Given the description of an element on the screen output the (x, y) to click on. 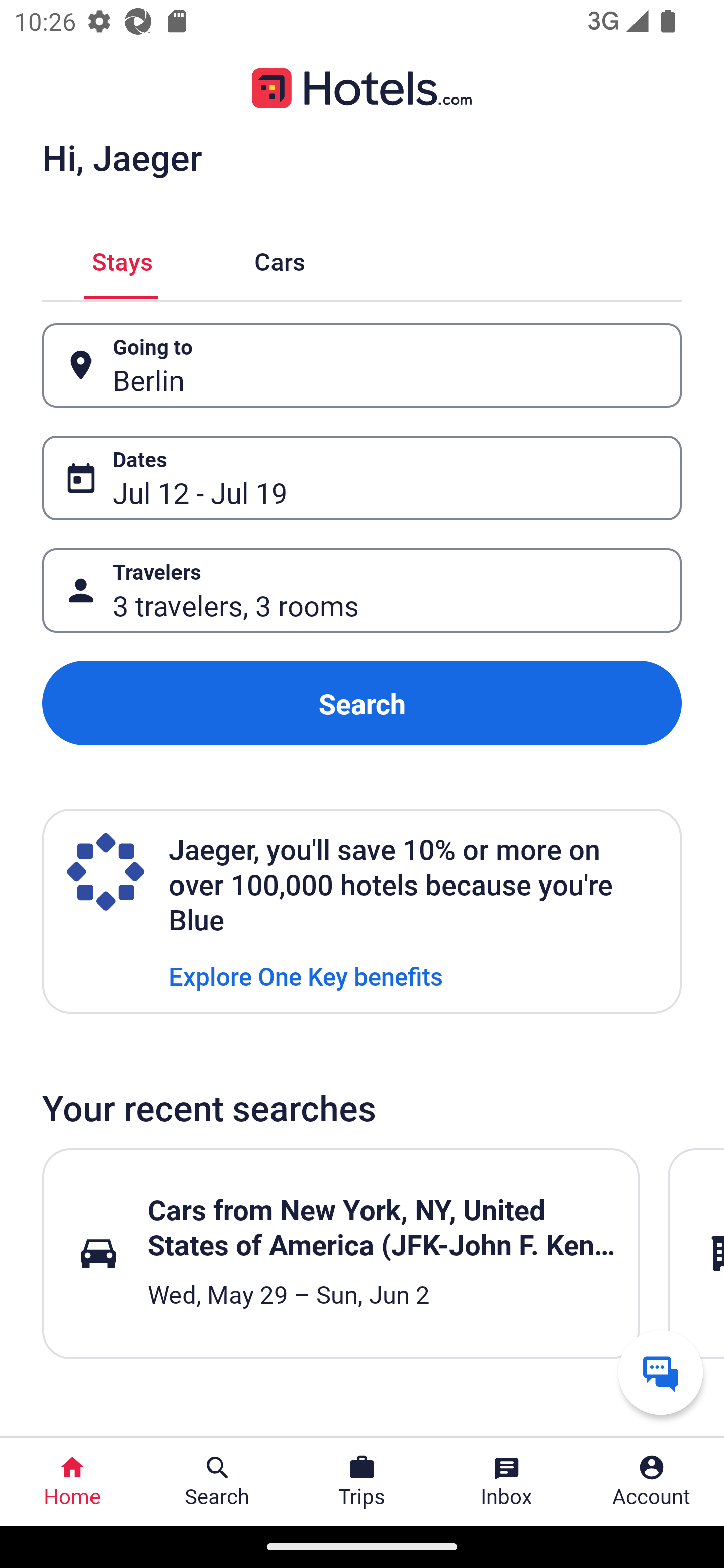
Hi, Jaeger (121, 156)
Cars (279, 259)
Going to Button Berlin (361, 365)
Dates Button Jul 12 - Jul 19 (361, 477)
Travelers Button 3 travelers, 3 rooms (361, 590)
Search (361, 702)
Get help from a virtual agent (660, 1371)
Search Search Button (216, 1481)
Trips Trips Button (361, 1481)
Inbox Inbox Button (506, 1481)
Account Profile. Button (651, 1481)
